Given the description of an element on the screen output the (x, y) to click on. 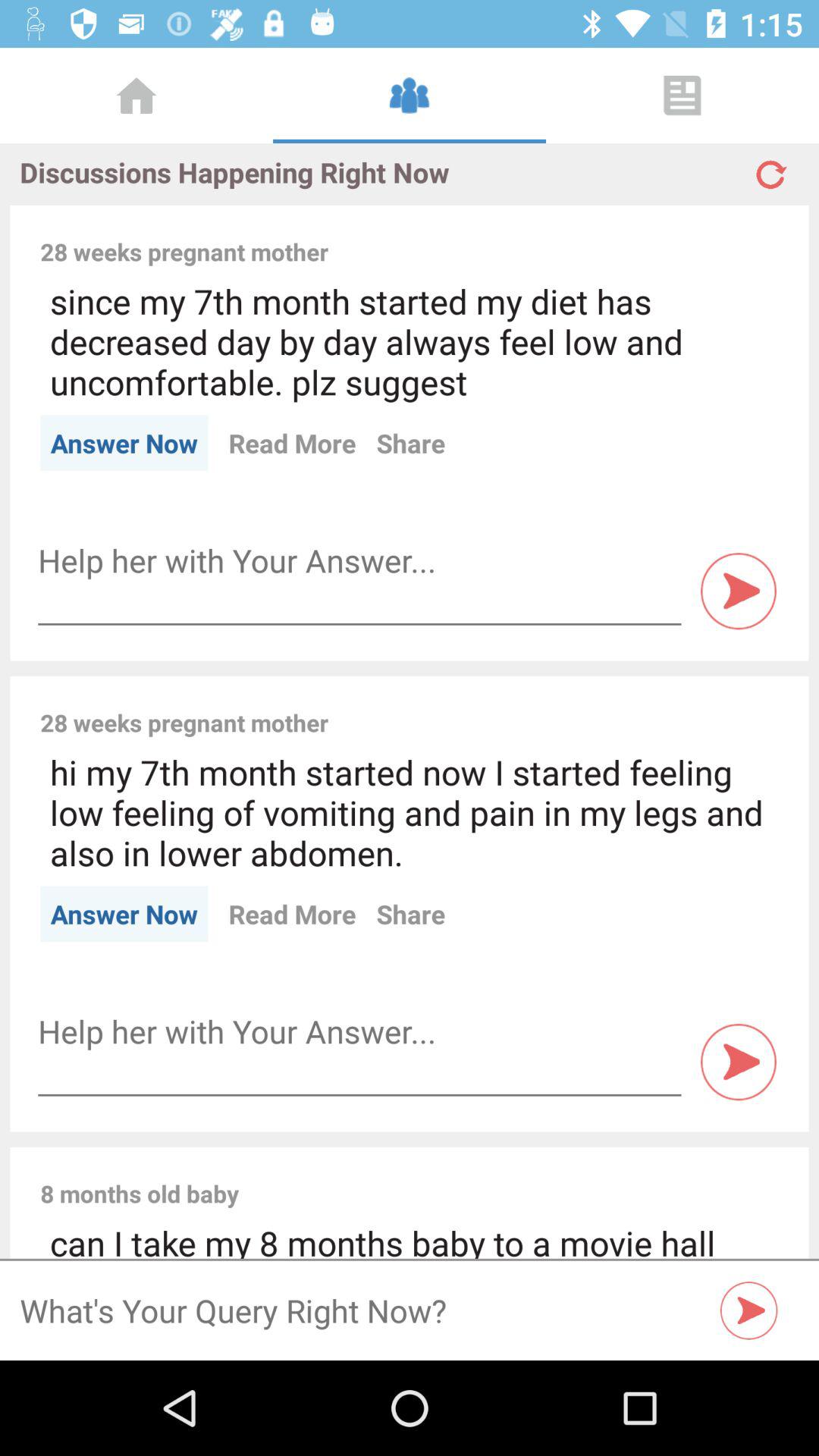
tap item to the right of 28 weeks pregnant icon (563, 706)
